Given the description of an element on the screen output the (x, y) to click on. 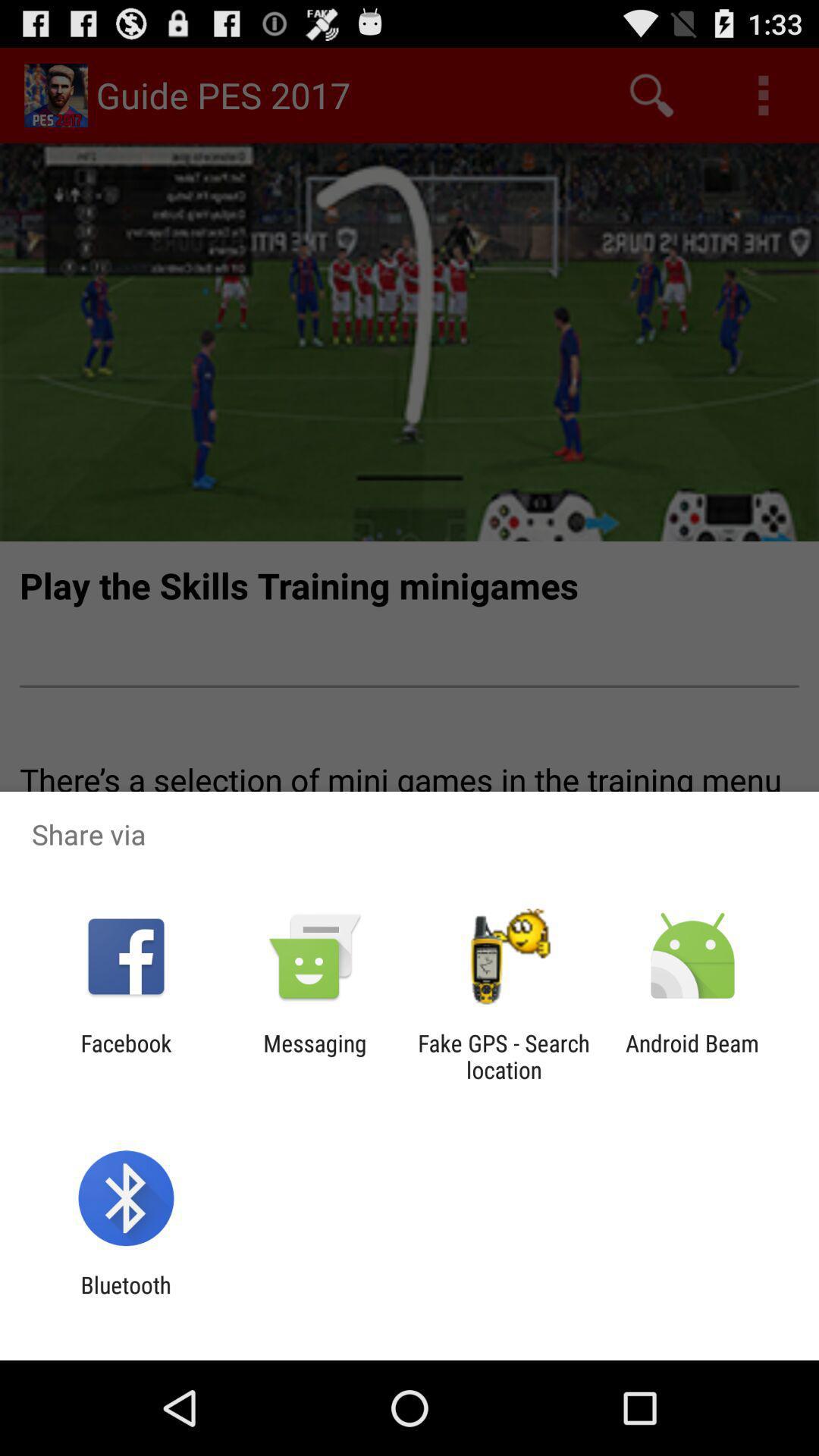
jump to bluetooth item (125, 1298)
